Given the description of an element on the screen output the (x, y) to click on. 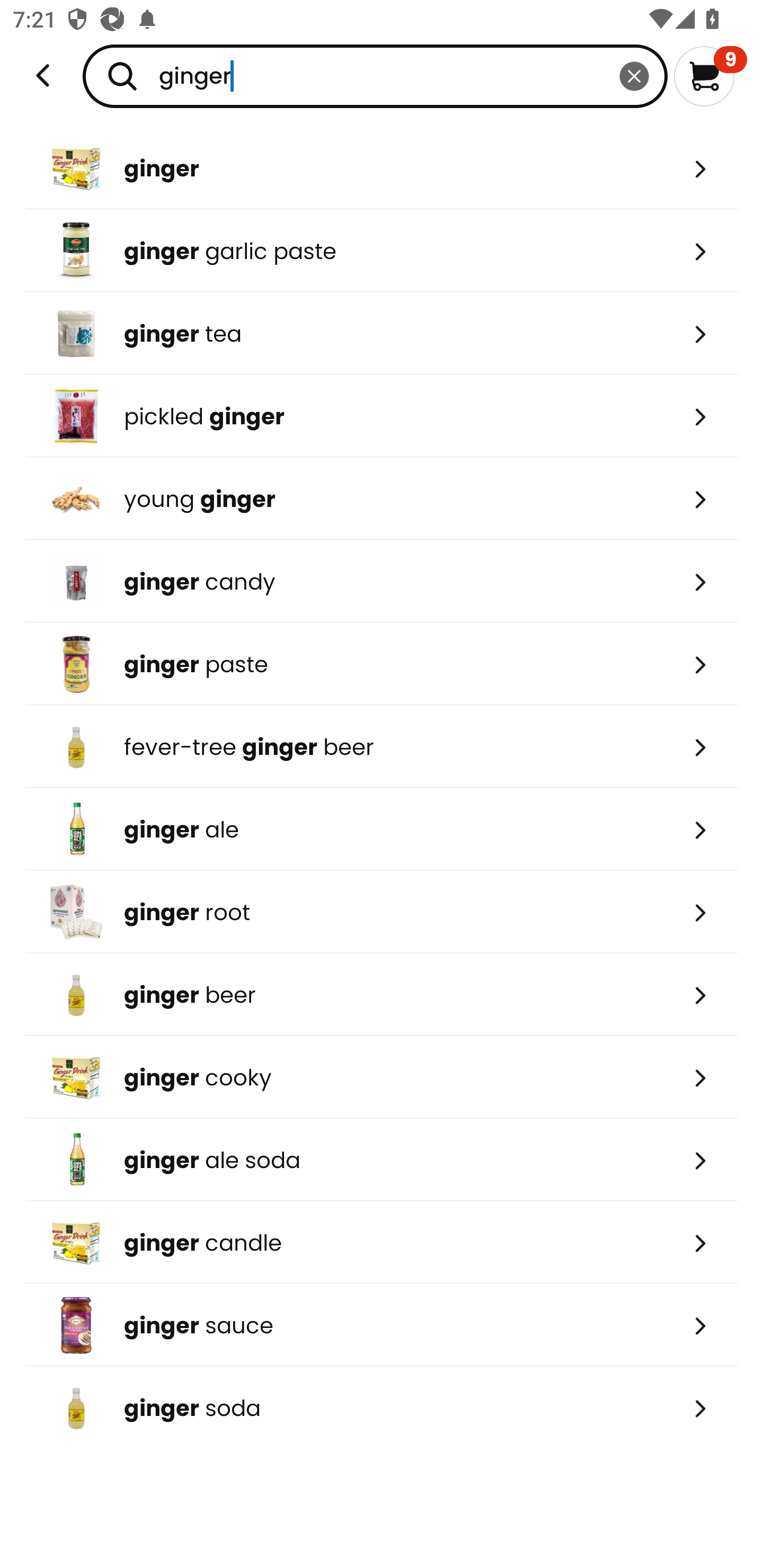
ginger (374, 75)
9 (709, 75)
Weee! (42, 76)
ginger (381, 168)
ginger garlic paste (381, 250)
ginger tea (381, 332)
pickled ginger (381, 415)
young ginger (381, 498)
ginger candy (381, 581)
ginger paste (381, 663)
fever-tree ginger beer (381, 746)
